Given the description of an element on the screen output the (x, y) to click on. 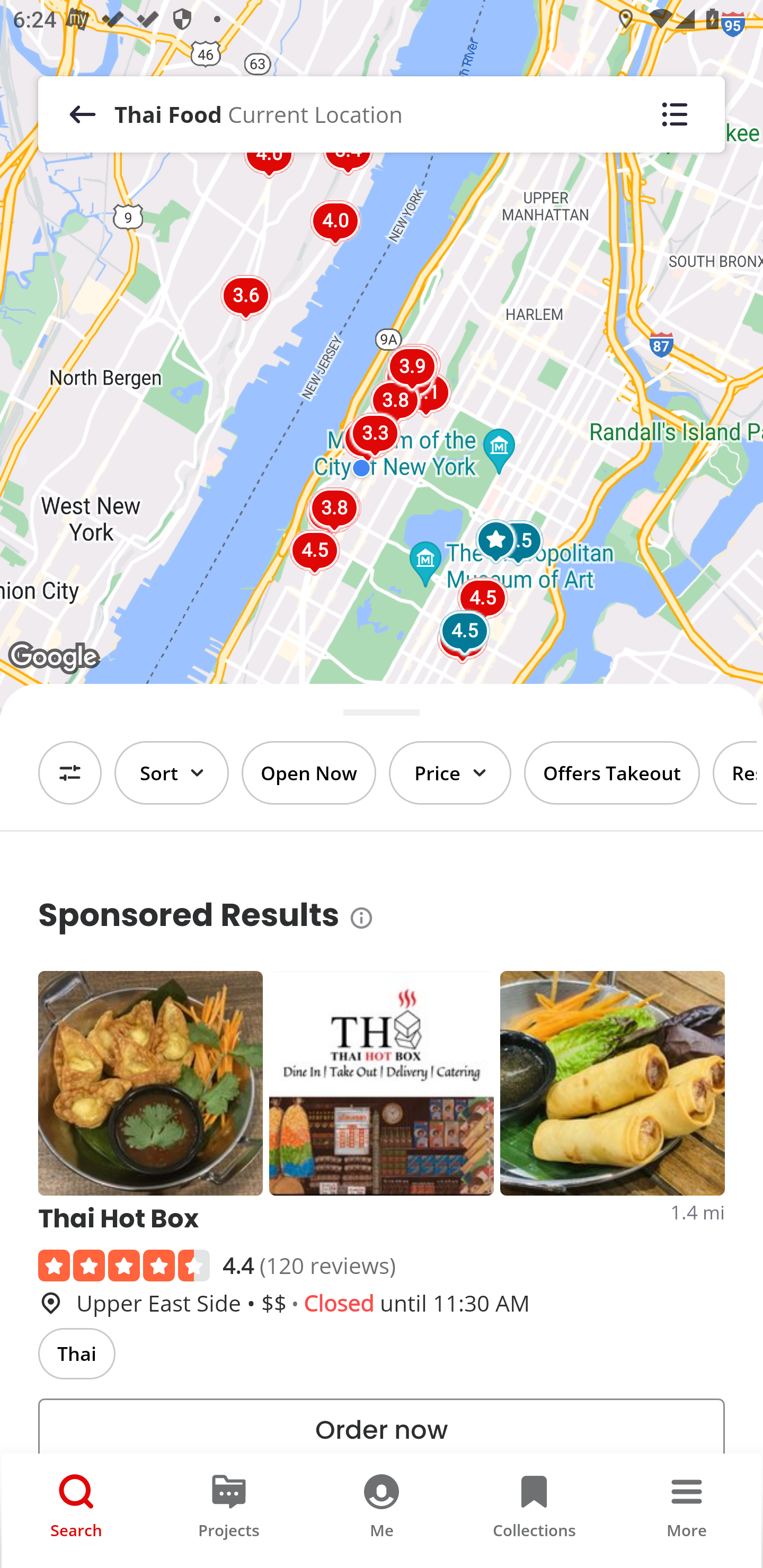
Sort (171, 772)
